Given the description of an element on the screen output the (x, y) to click on. 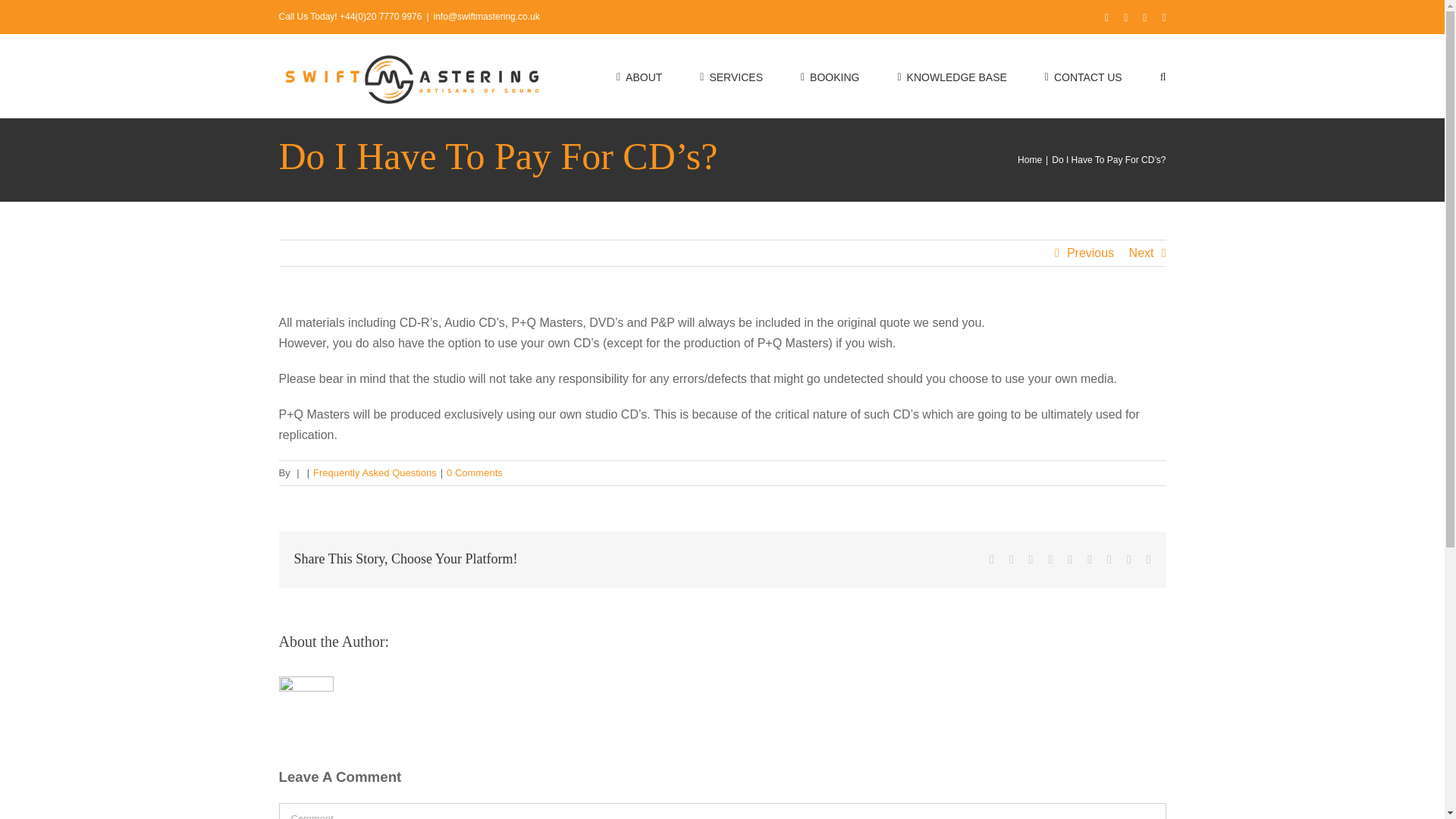
Frequently Asked Questions (374, 472)
Home (1029, 159)
CONTACT US (1083, 75)
Previous (1090, 253)
0 Comments (474, 472)
Next (1141, 253)
KNOWLEDGE BASE (951, 75)
